Given the description of an element on the screen output the (x, y) to click on. 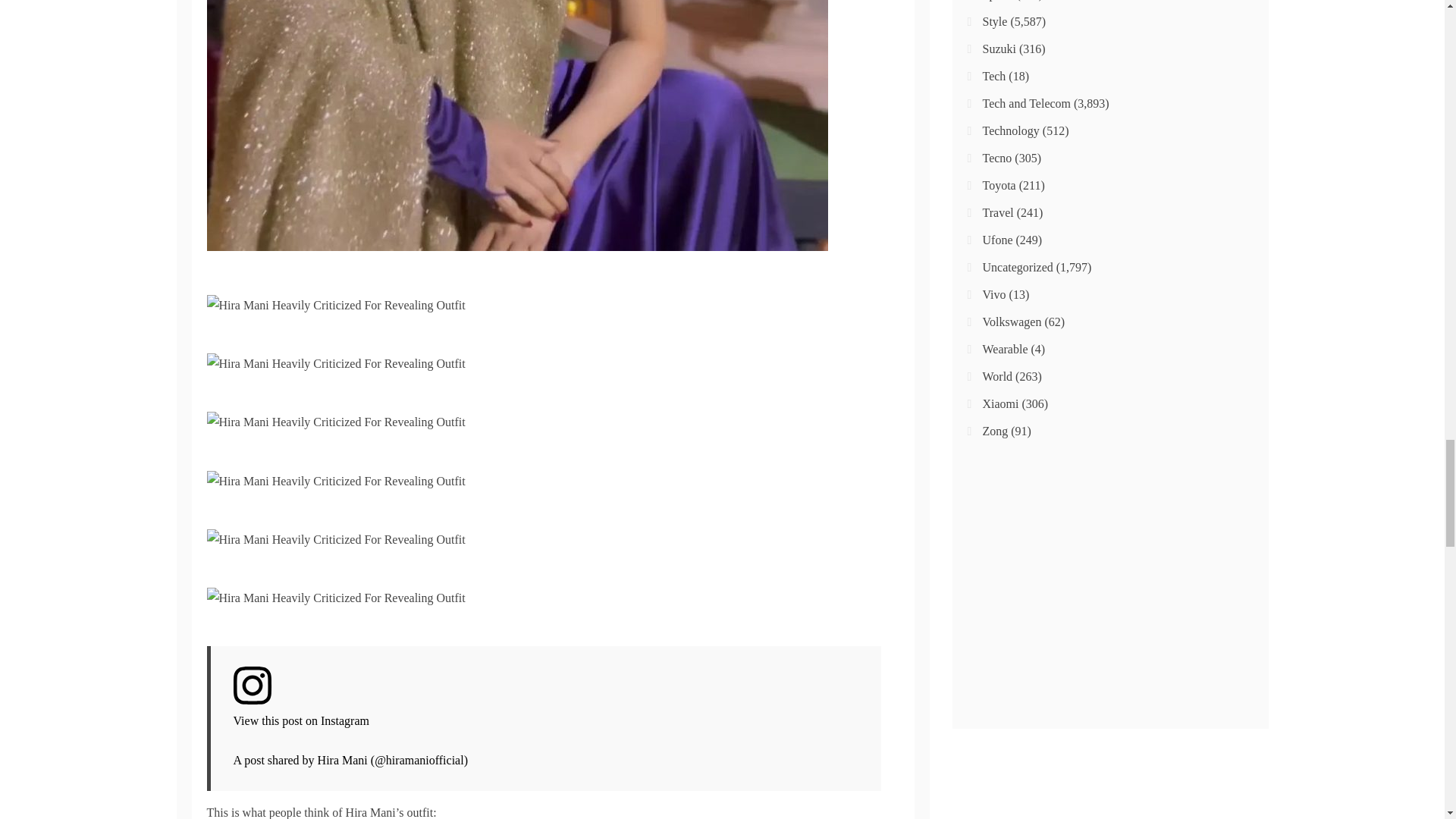
Hira Mani Heavily Criticized For Revealing Outfit (335, 598)
Hira Mani Heavily Criticized For Revealing Outfit (335, 480)
Hira Mani Heavily Criticized For Revealing Outfit (335, 362)
Hira Mani Heavily Criticized For Revealing Outfit (335, 421)
Hira Mani Heavily Criticized For Revealing Outfit (335, 304)
View this post on Instagram (545, 698)
Hira Mani Heavily Criticized For Revealing Outfit (335, 539)
